Given the description of an element on the screen output the (x, y) to click on. 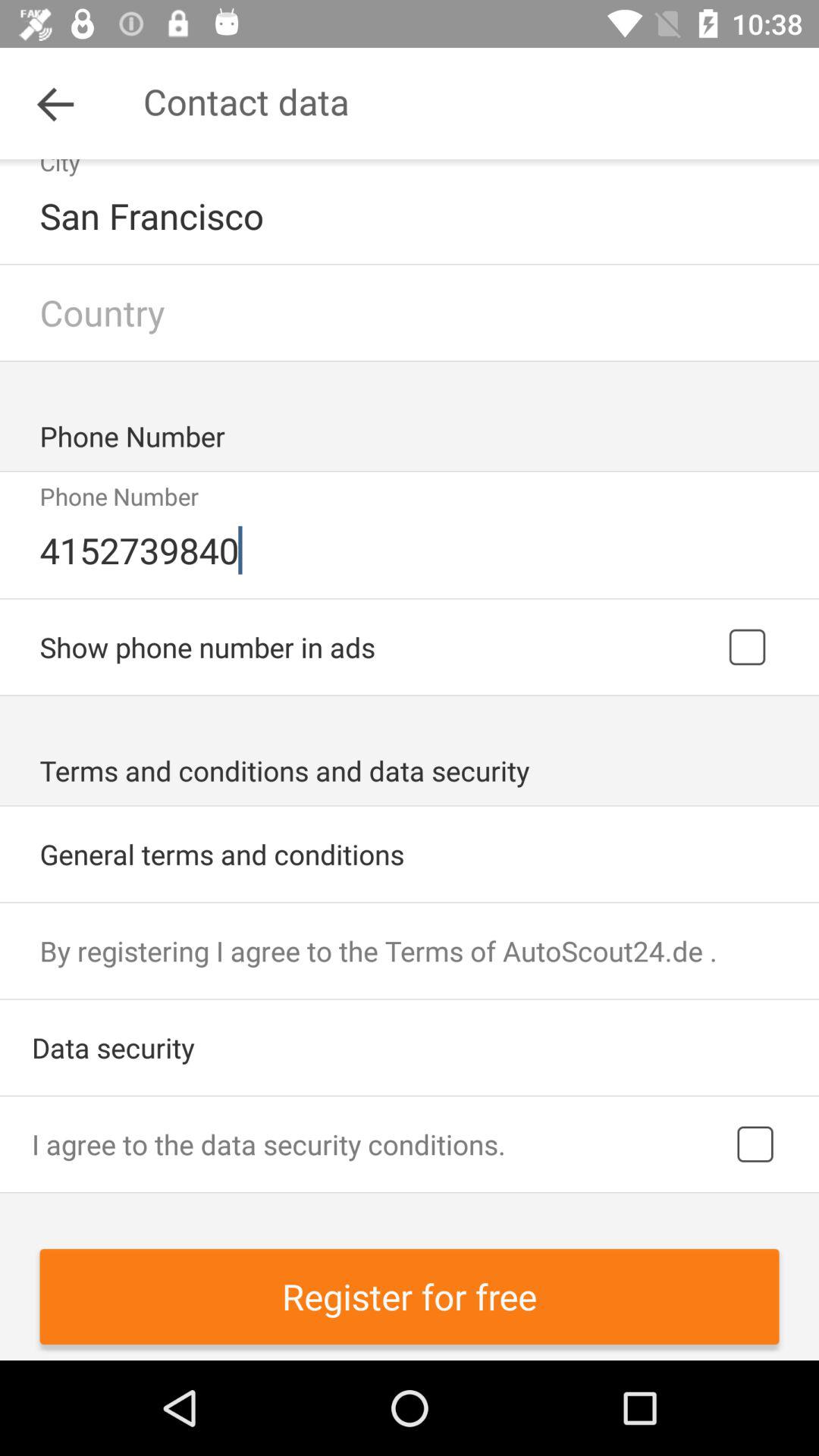
open item next to contact data icon (55, 103)
